Given the description of an element on the screen output the (x, y) to click on. 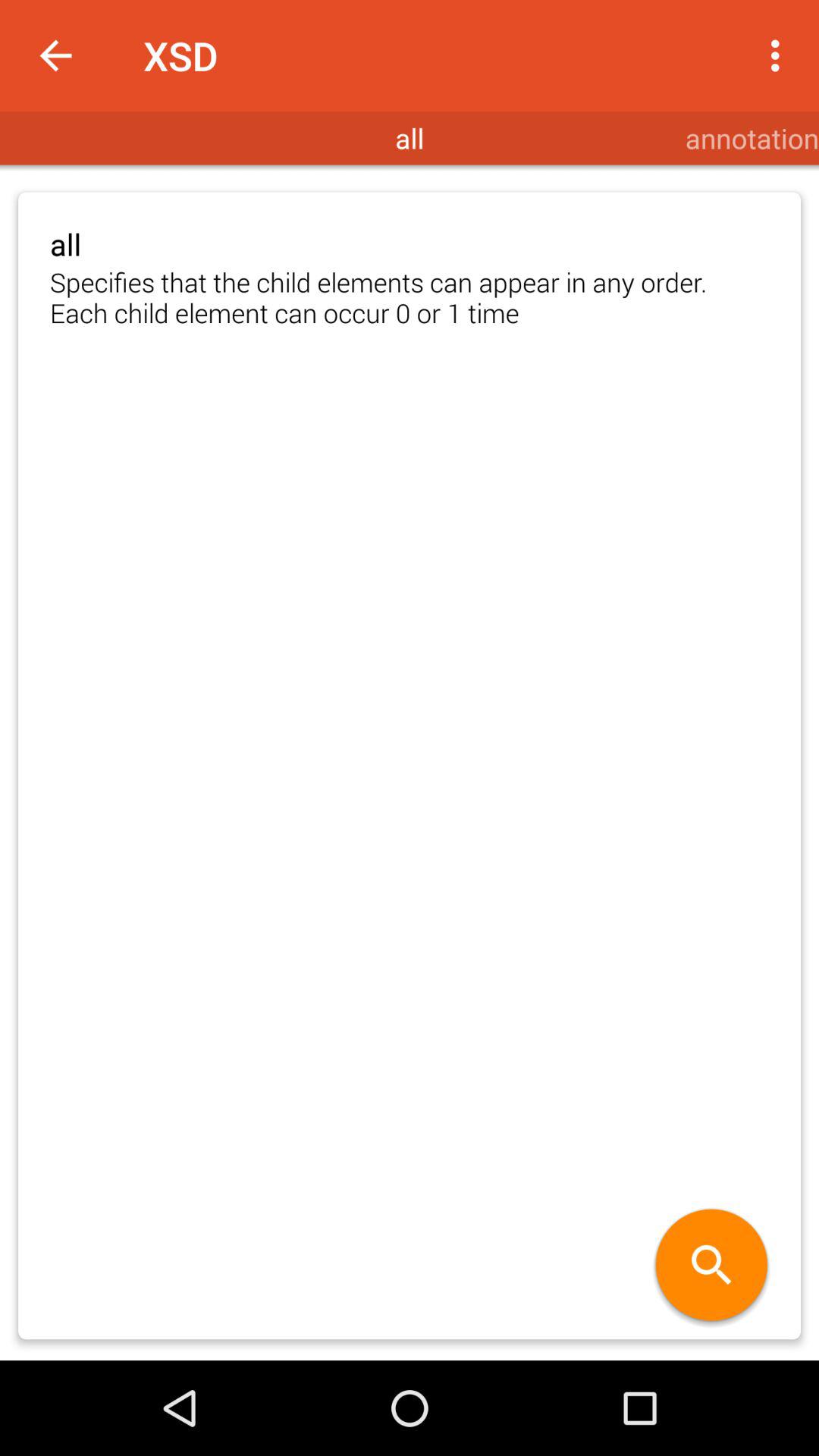
click item to the left of xsd icon (55, 55)
